Given the description of an element on the screen output the (x, y) to click on. 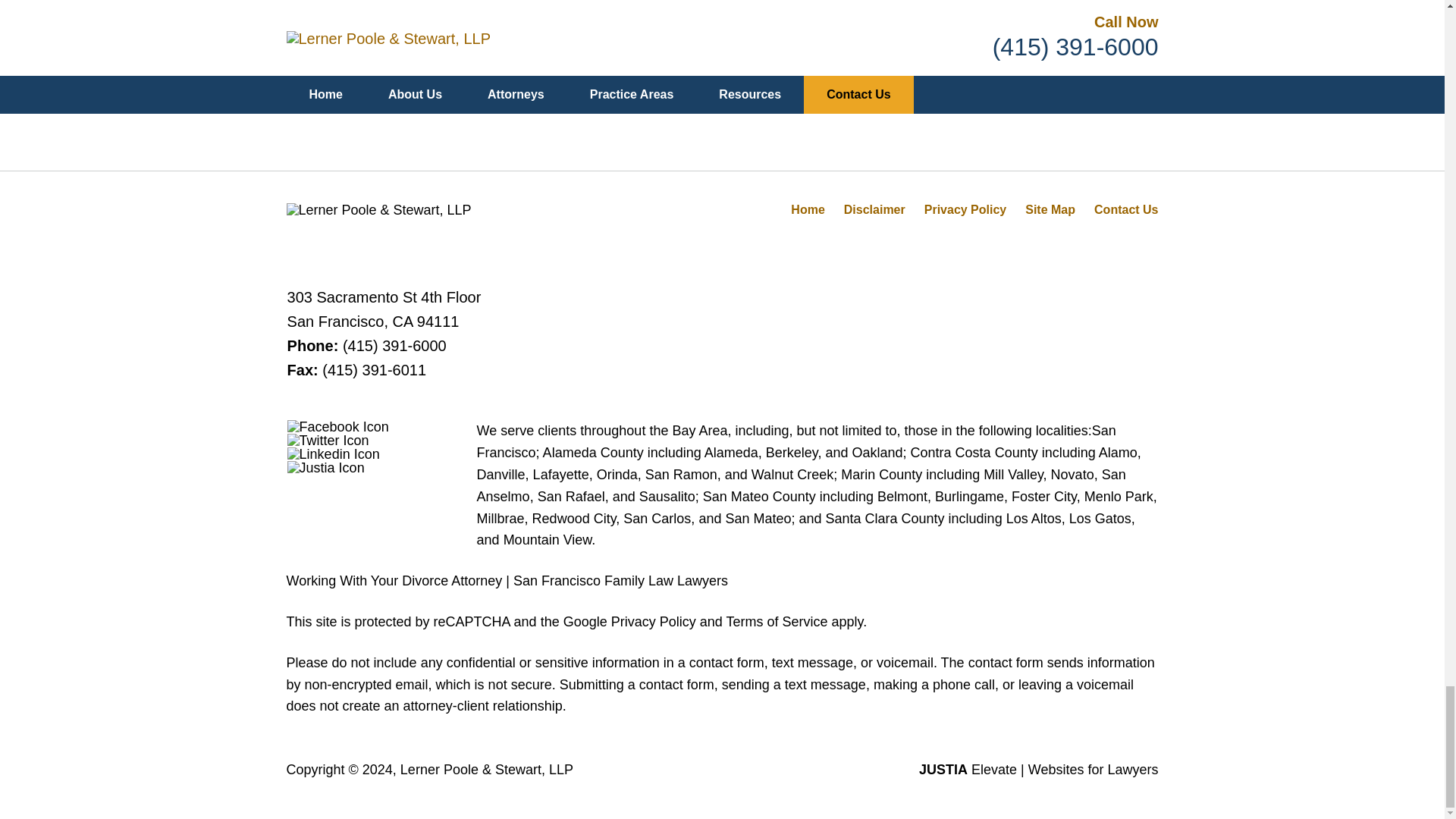
Linkedin (333, 454)
Facebook (337, 427)
Justia (325, 468)
Home (807, 209)
Twitter (327, 440)
